Given the description of an element on the screen output the (x, y) to click on. 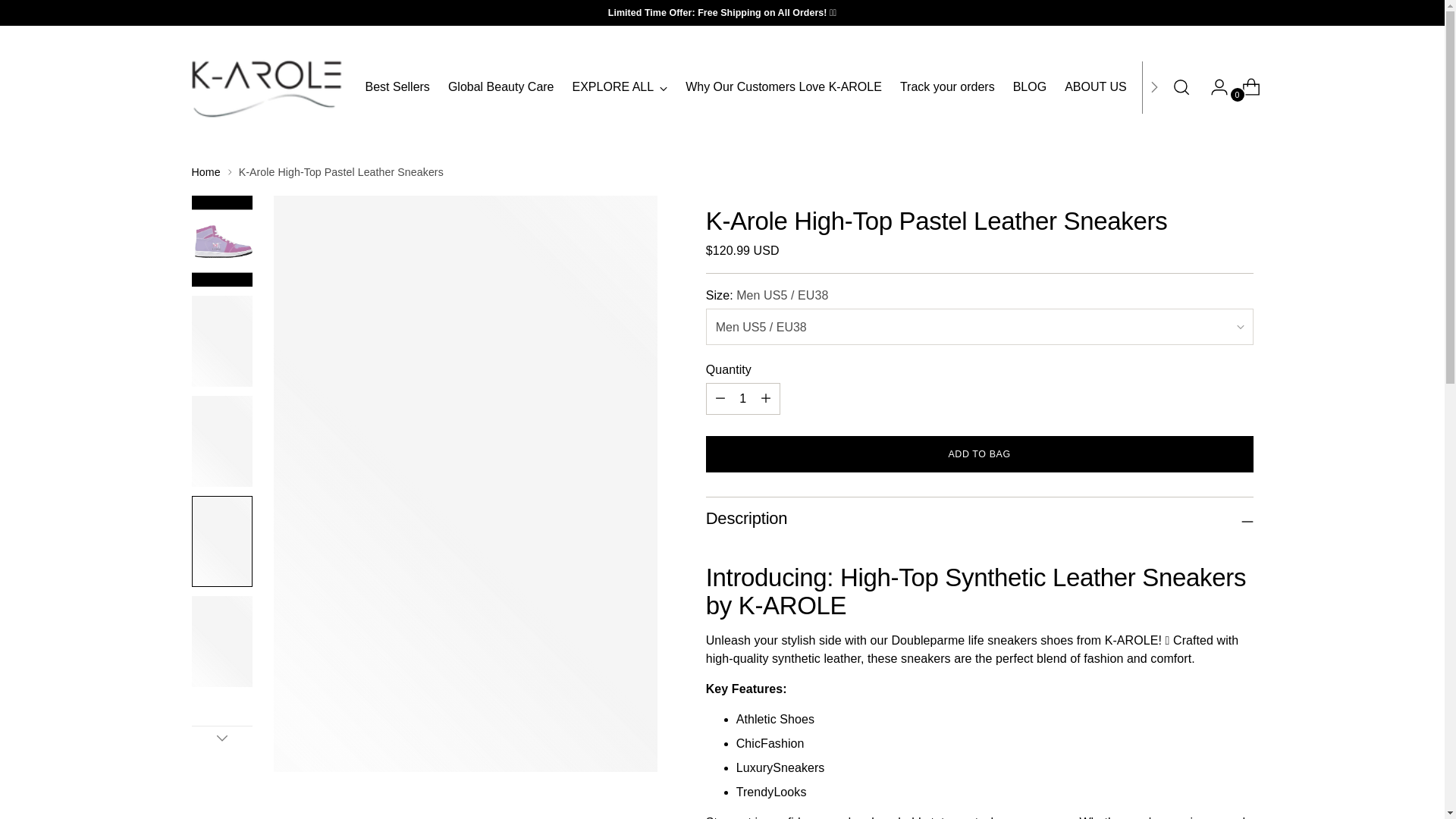
Best Sellers (397, 87)
Down (220, 737)
1 (743, 399)
BLOG (1029, 87)
ABOUT US (1095, 87)
CONTACT US (1183, 87)
Track your orders (946, 87)
EXPLORE ALL (620, 87)
Why Our Customers Love K-AROLE (783, 87)
